Given the description of an element on the screen output the (x, y) to click on. 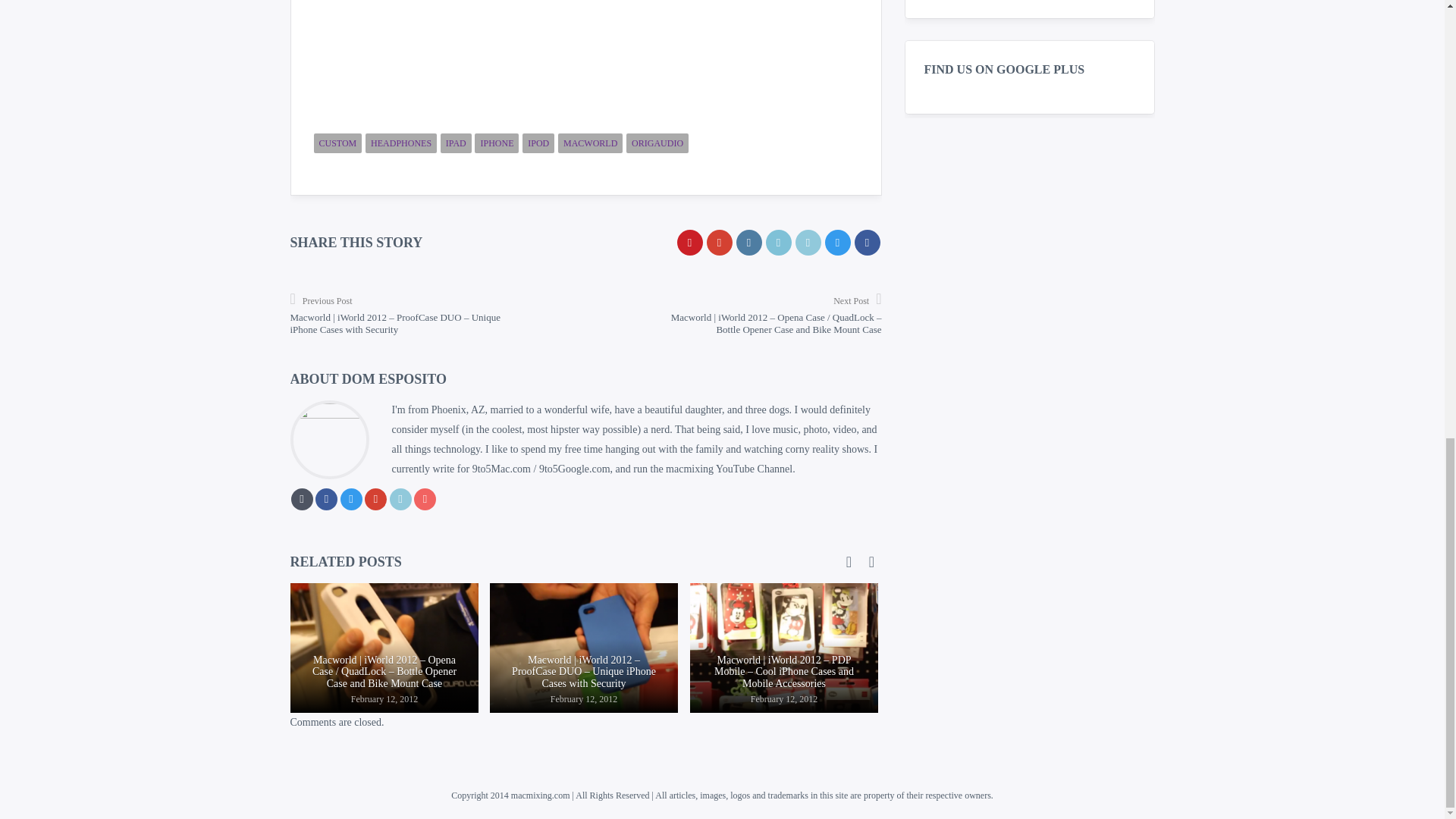
Posts by Dom Esposito (394, 378)
